Given the description of an element on the screen output the (x, y) to click on. 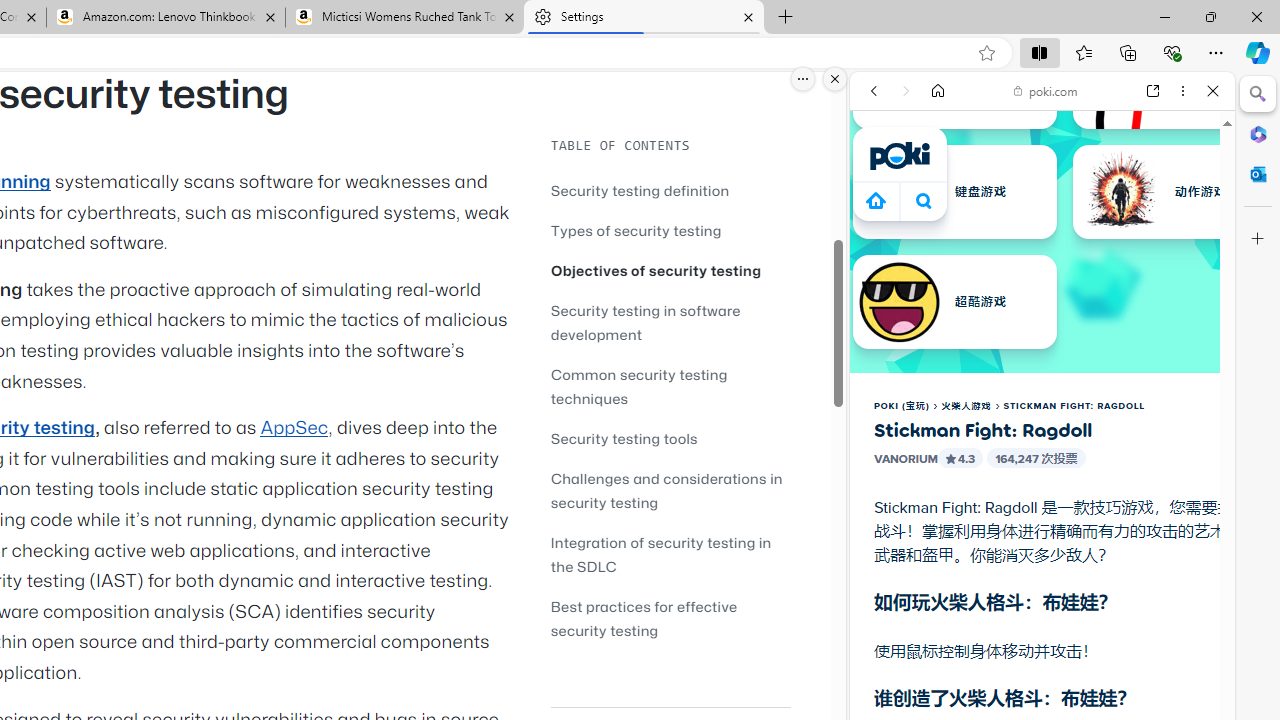
Io Games (1042, 617)
Io Games (1042, 616)
Search Filter, VIDEOS (1006, 228)
Sports Games (1042, 666)
Close split screen. (835, 79)
Poki - Free Online Games - Play Now! (1034, 309)
Search Filter, Search Tools (1093, 228)
Common security testing techniques (639, 385)
Show More Car Games (1164, 472)
Security testing tools (623, 438)
Challenges and considerations in security testing (666, 490)
